Given the description of an element on the screen output the (x, y) to click on. 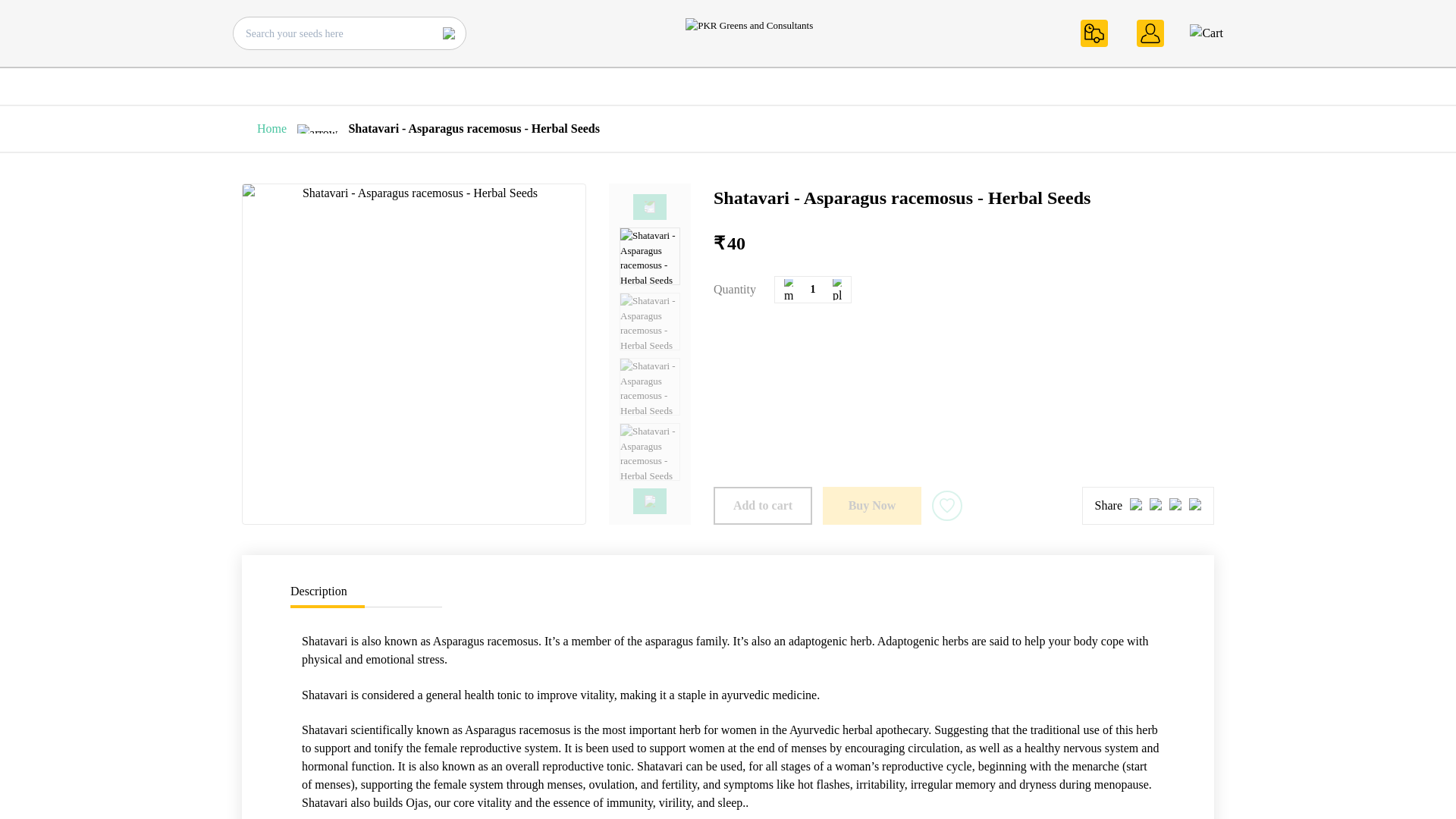
Buy Now (871, 505)
Home (271, 128)
Add to cart (762, 505)
